Given the description of an element on the screen output the (x, y) to click on. 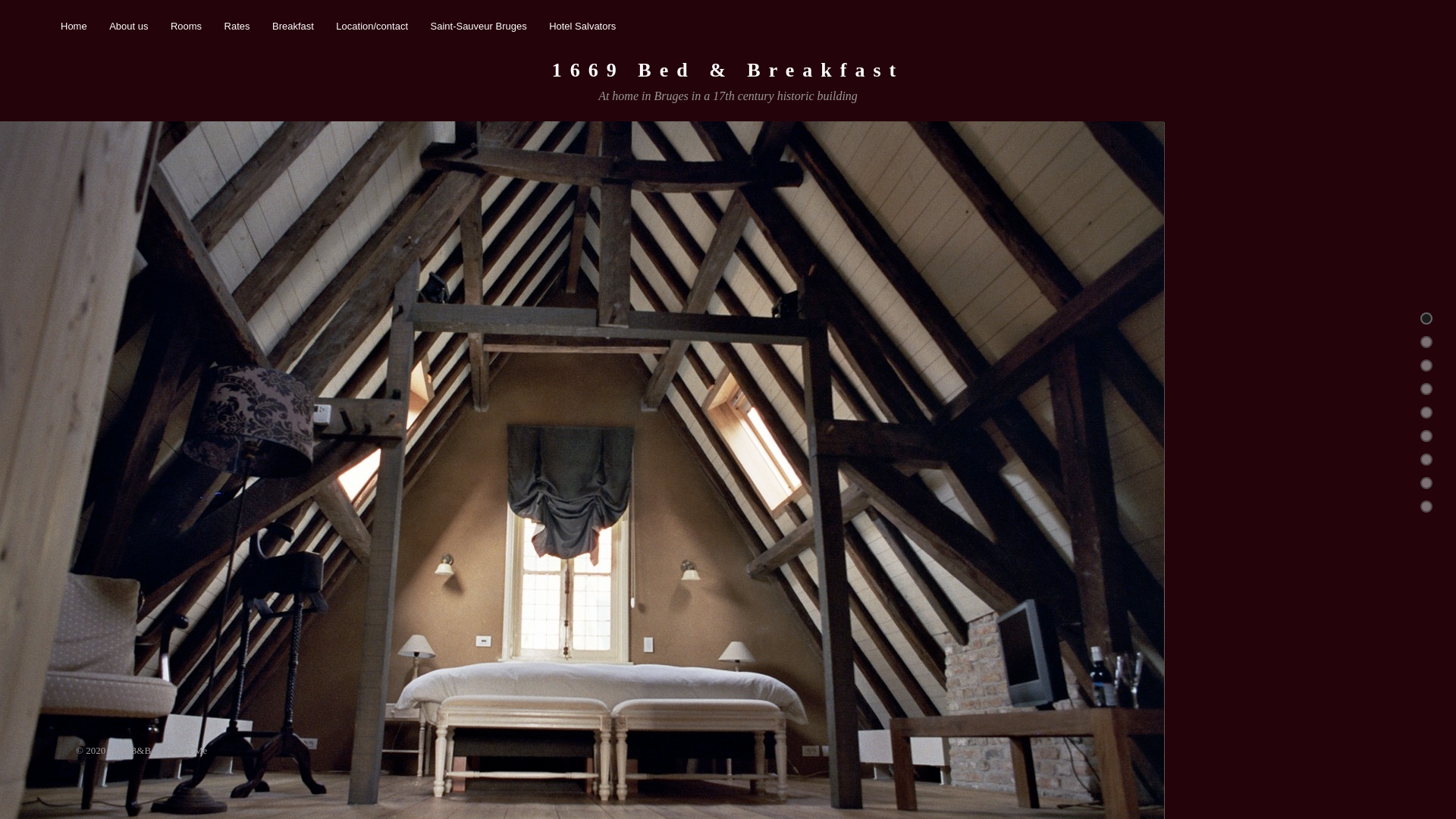
Saint-Sauveur Bruges Element type: text (478, 25)
Location/contact Element type: text (371, 25)
Hotel Salvators Element type: text (582, 25)
Rates Element type: text (237, 25)
Contact Me Element type: text (180, 750)
About us Element type: text (128, 25)
Breakfast Element type: text (292, 25)
Rooms Element type: text (185, 25)
Home Element type: text (73, 25)
